Given the description of an element on the screen output the (x, y) to click on. 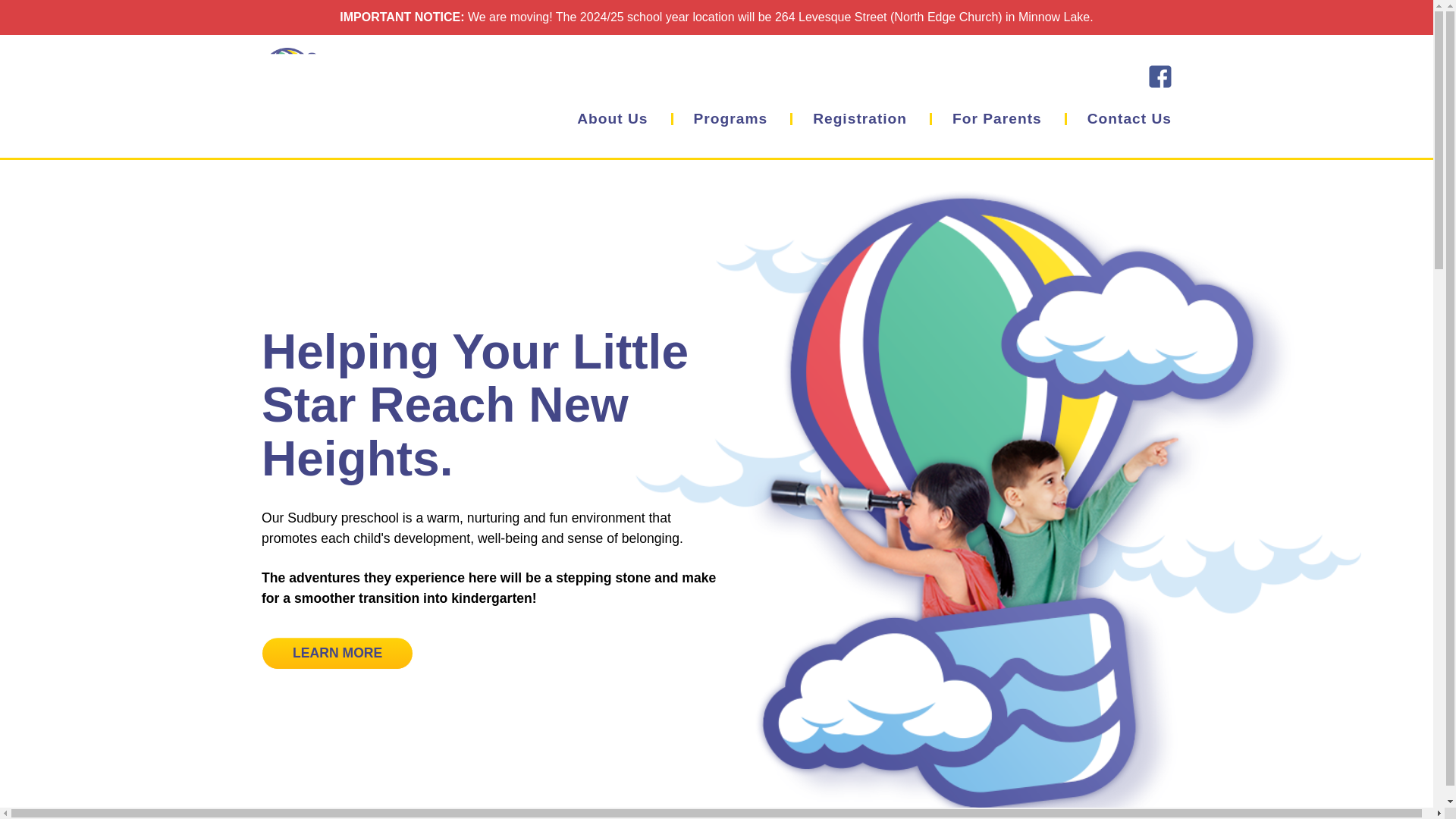
LEARN MORE (337, 653)
